Given the description of an element on the screen output the (x, y) to click on. 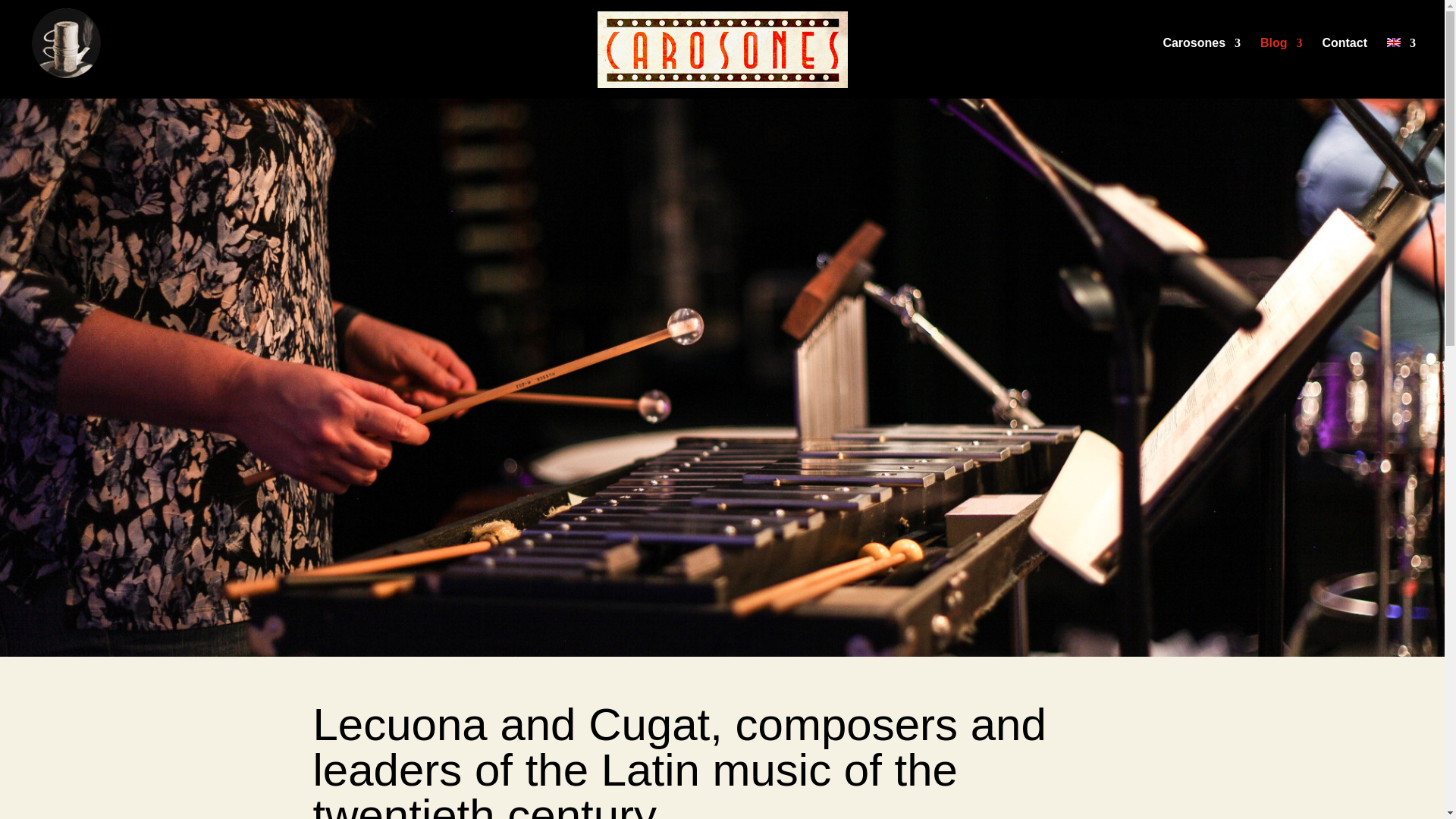
Blog (1281, 46)
Contact (1344, 61)
Carosones (1200, 46)
